Given the description of an element on the screen output the (x, y) to click on. 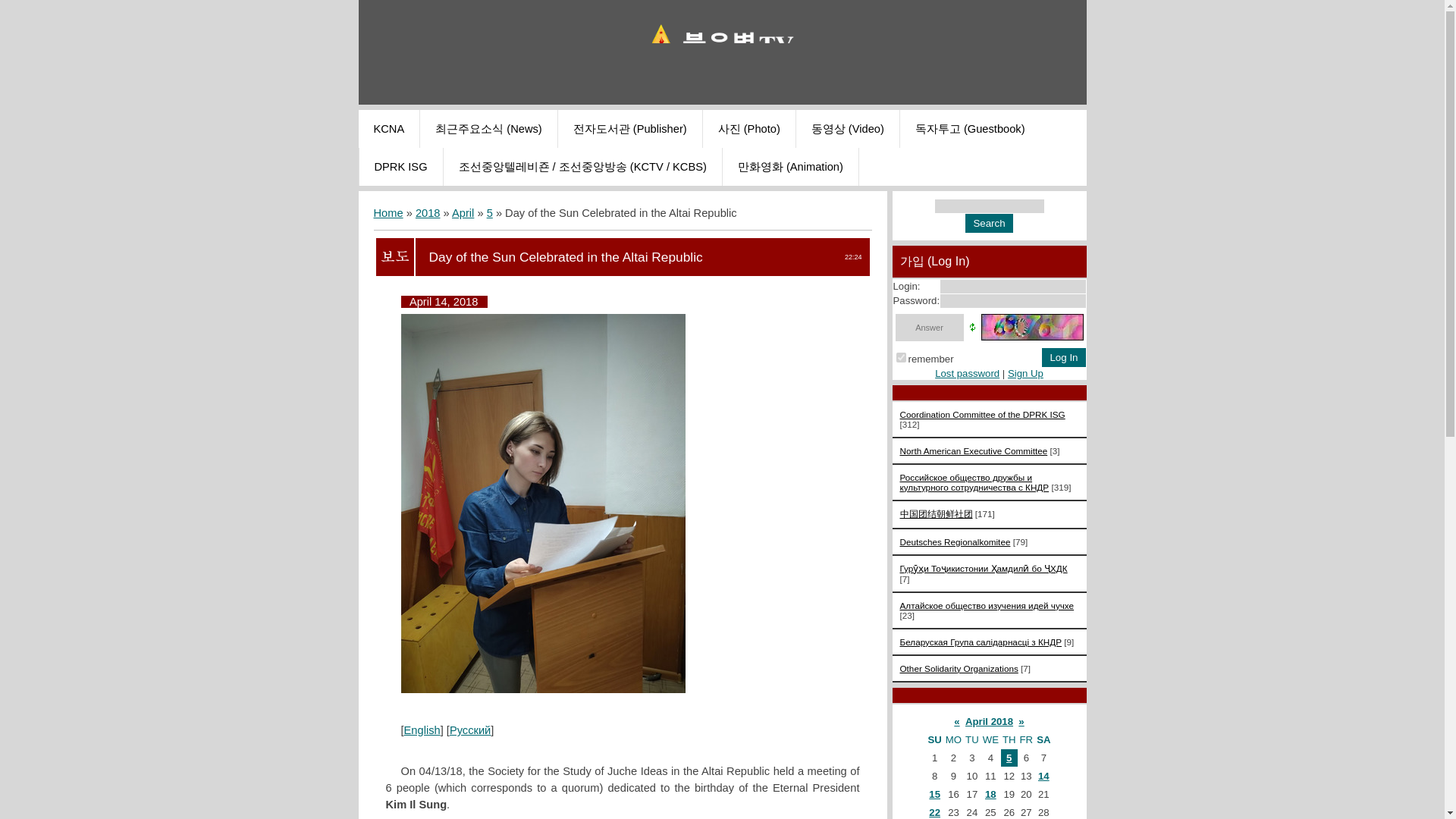
April (462, 213)
1 Messages (934, 794)
Lost password (966, 373)
Refresh security code (971, 326)
English (422, 729)
1 Messages (990, 794)
Refresh security code (1032, 326)
Home (387, 213)
2018 (427, 213)
Sign Up (1025, 373)
